Given the description of an element on the screen output the (x, y) to click on. 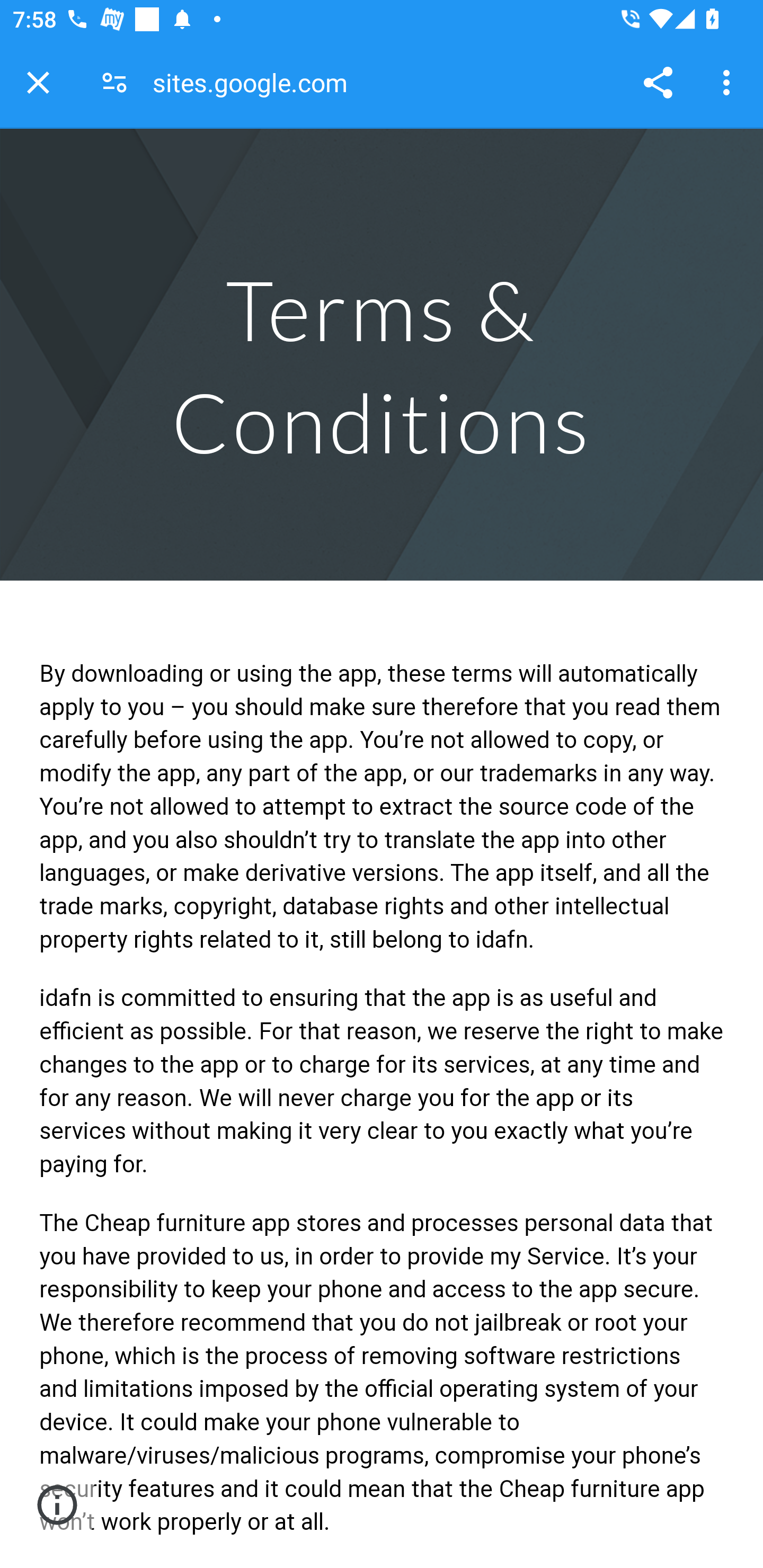
Close tab (38, 82)
Share (657, 82)
Customize and control Google Chrome (729, 82)
Connection is secure (114, 81)
sites.google.com (256, 81)
Site actions (57, 1504)
